Given the description of an element on the screen output the (x, y) to click on. 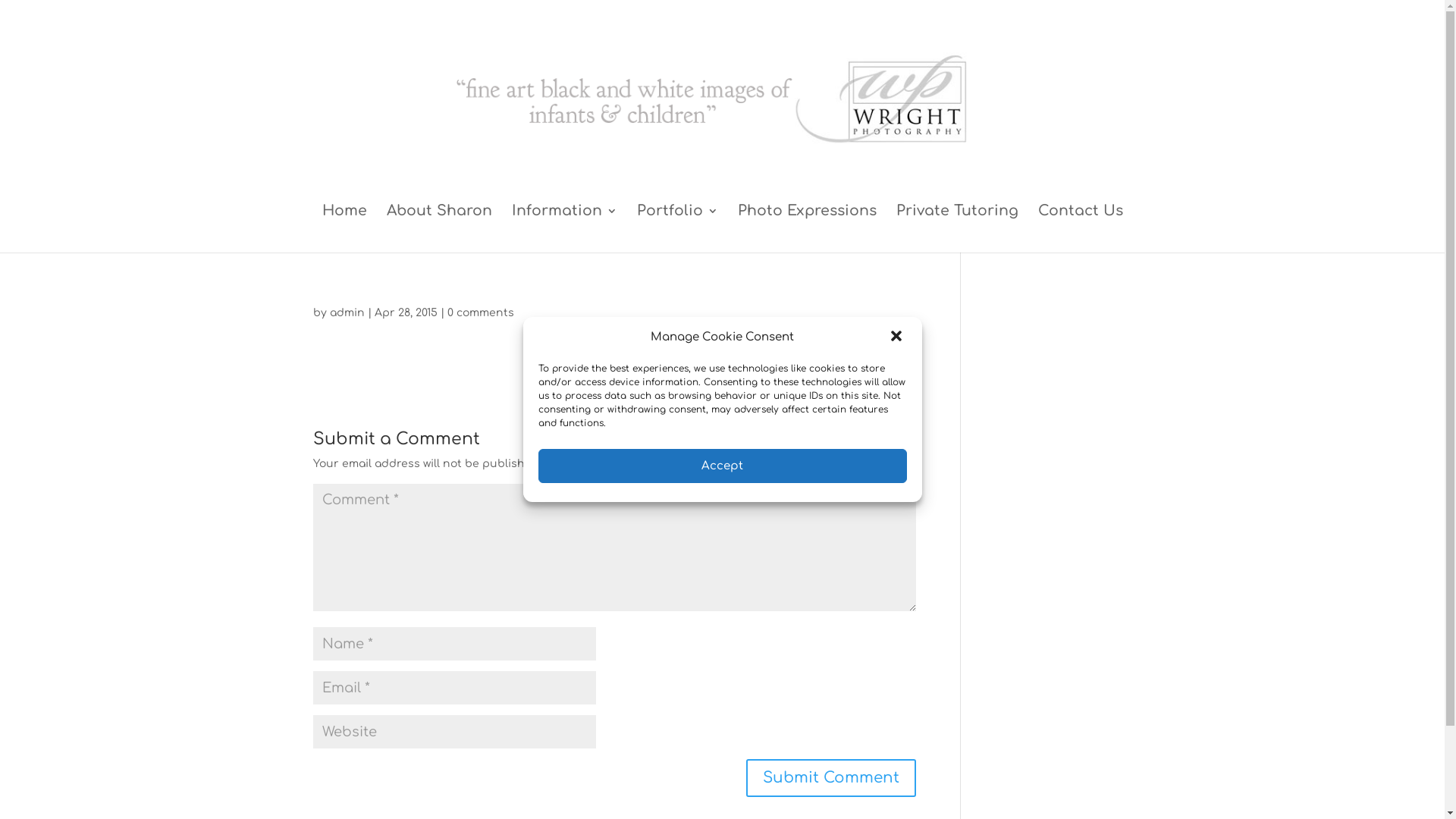
admin Element type: text (346, 312)
Home Element type: text (343, 228)
Photo Expressions Element type: text (806, 228)
Submit Comment Element type: text (831, 778)
About Sharon Element type: text (439, 228)
0 comments Element type: text (480, 312)
Portfolio Element type: text (677, 228)
Contact Us Element type: text (1079, 228)
Accept Element type: text (722, 465)
Information Element type: text (563, 228)
Private Tutoring Element type: text (957, 228)
